Given the description of an element on the screen output the (x, y) to click on. 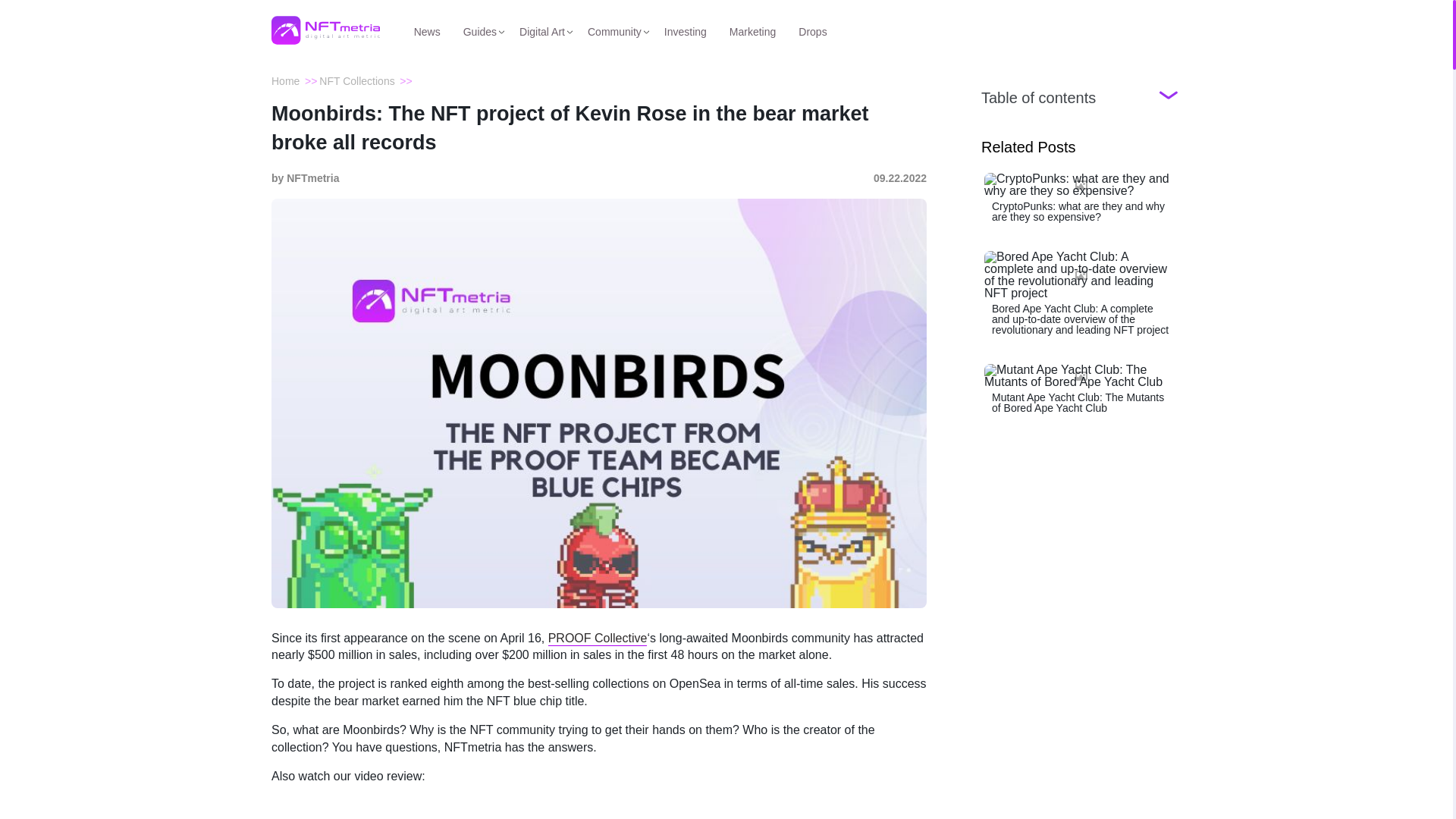
NFT Collections (356, 80)
Home (284, 80)
by NFTmetria (304, 178)
Digital Art (541, 30)
Author's (304, 178)
Guides (479, 30)
Community (615, 30)
Marketing (752, 30)
Investing (684, 30)
